Given the description of an element on the screen output the (x, y) to click on. 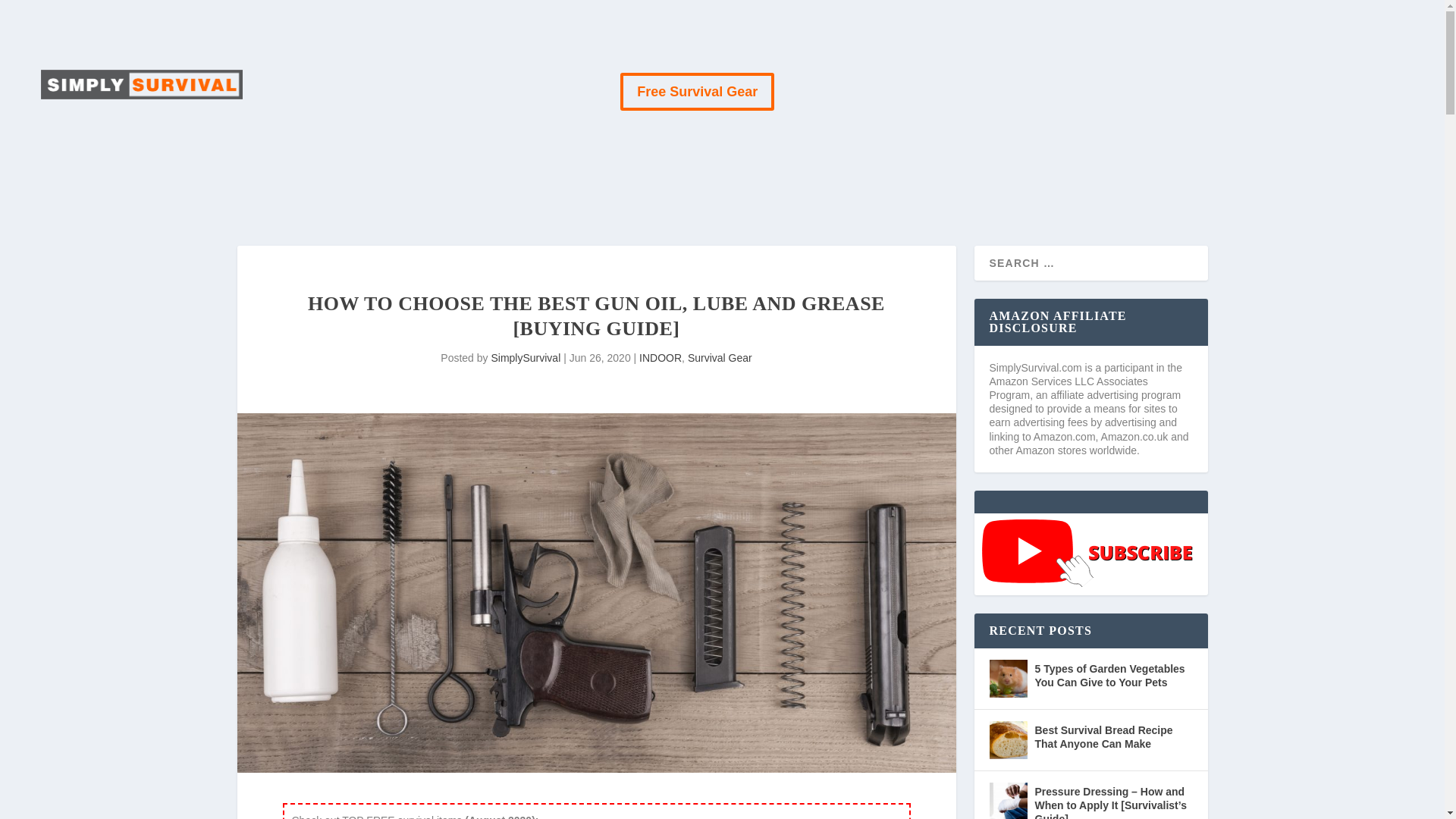
Survival Gear (719, 357)
Posts by SimplySurvival (525, 357)
INDOOR (660, 357)
Best Survival Bread Recipe That Anyone Can Make (1007, 740)
5 Types of Garden Vegetables You Can Give to Your Pets (1007, 678)
Free Survival Gear (697, 90)
SimplySurvival (525, 357)
